Given the description of an element on the screen output the (x, y) to click on. 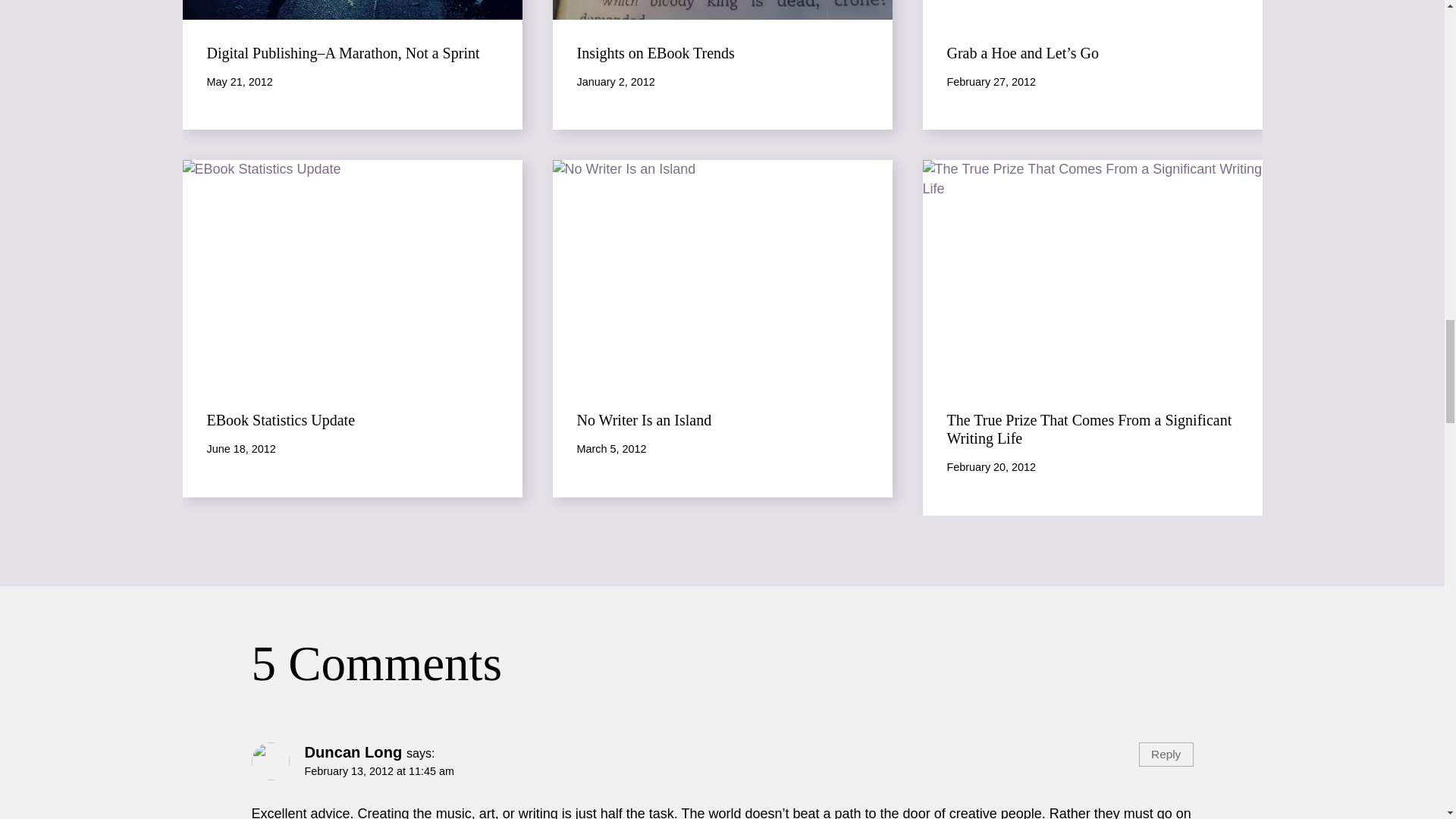
No Writer Is an Island (643, 419)
Insights on EBook Trends (654, 53)
EBook Statistics Update (280, 419)
